Given the description of an element on the screen output the (x, y) to click on. 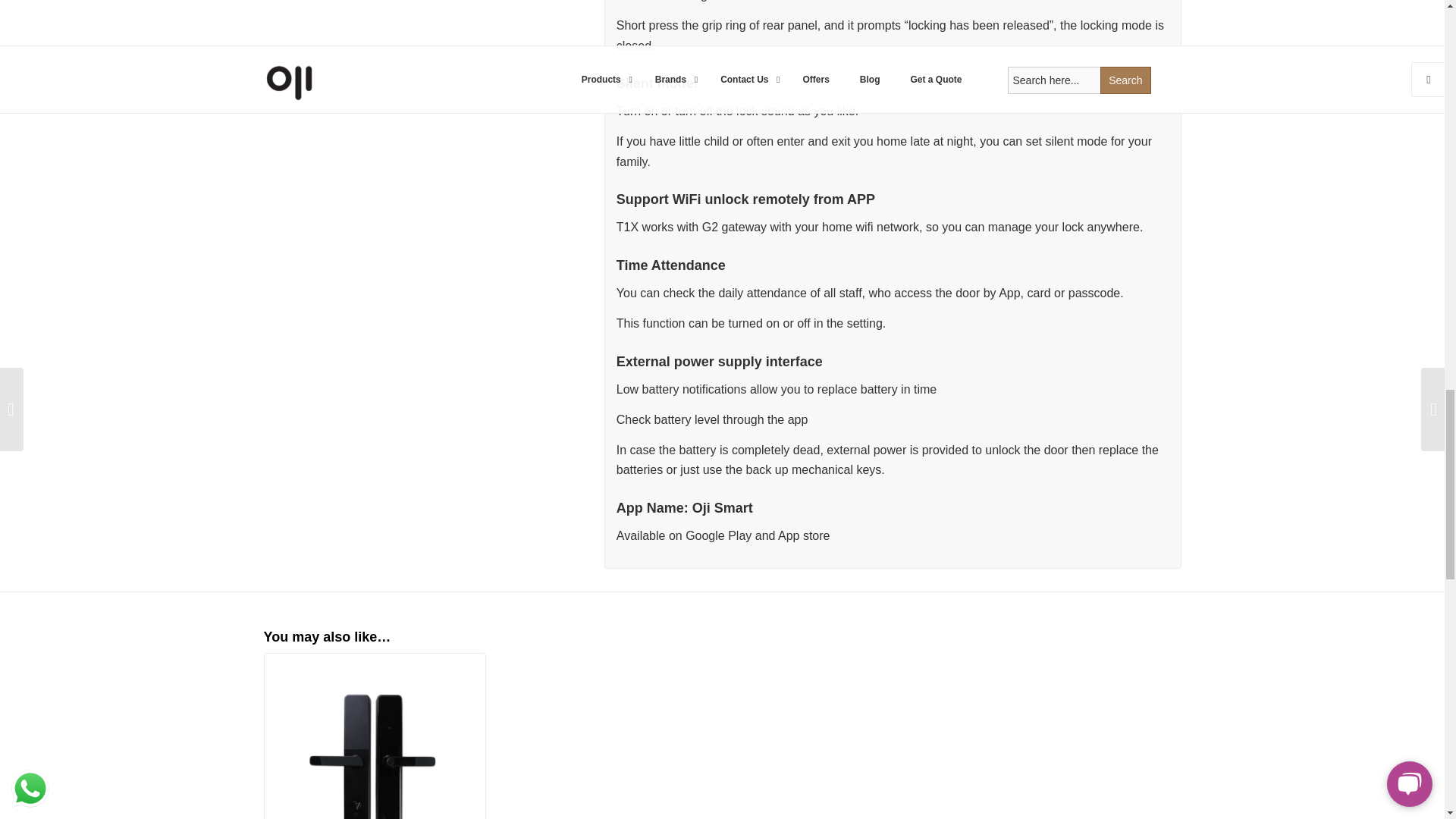
Oji XT8 Smart Lock 7 (373, 736)
